Given the description of an element on the screen output the (x, y) to click on. 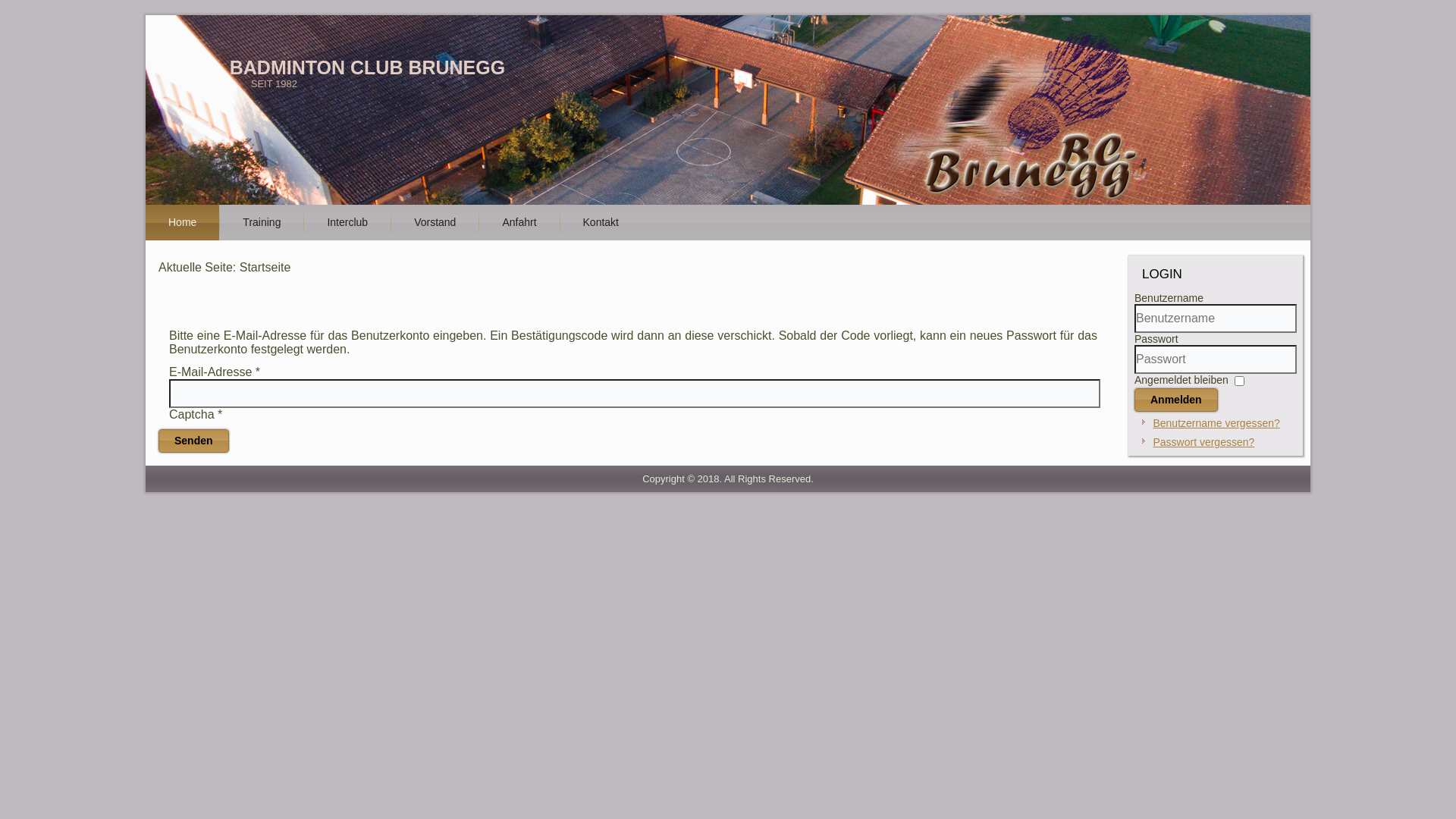
Interclub Element type: text (347, 222)
Anmelden Element type: text (1175, 399)
Training Element type: text (261, 222)
Passwort vergessen? Element type: text (1203, 442)
BADMINTON CLUB BRUNEGG Element type: text (367, 67)
Kontakt Element type: text (600, 222)
Anfahrt Element type: text (518, 222)
Benutzername vergessen? Element type: text (1215, 423)
Senden Element type: text (193, 440)
Home Element type: text (182, 222)
Vorstand Element type: text (434, 222)
